Given the description of an element on the screen output the (x, y) to click on. 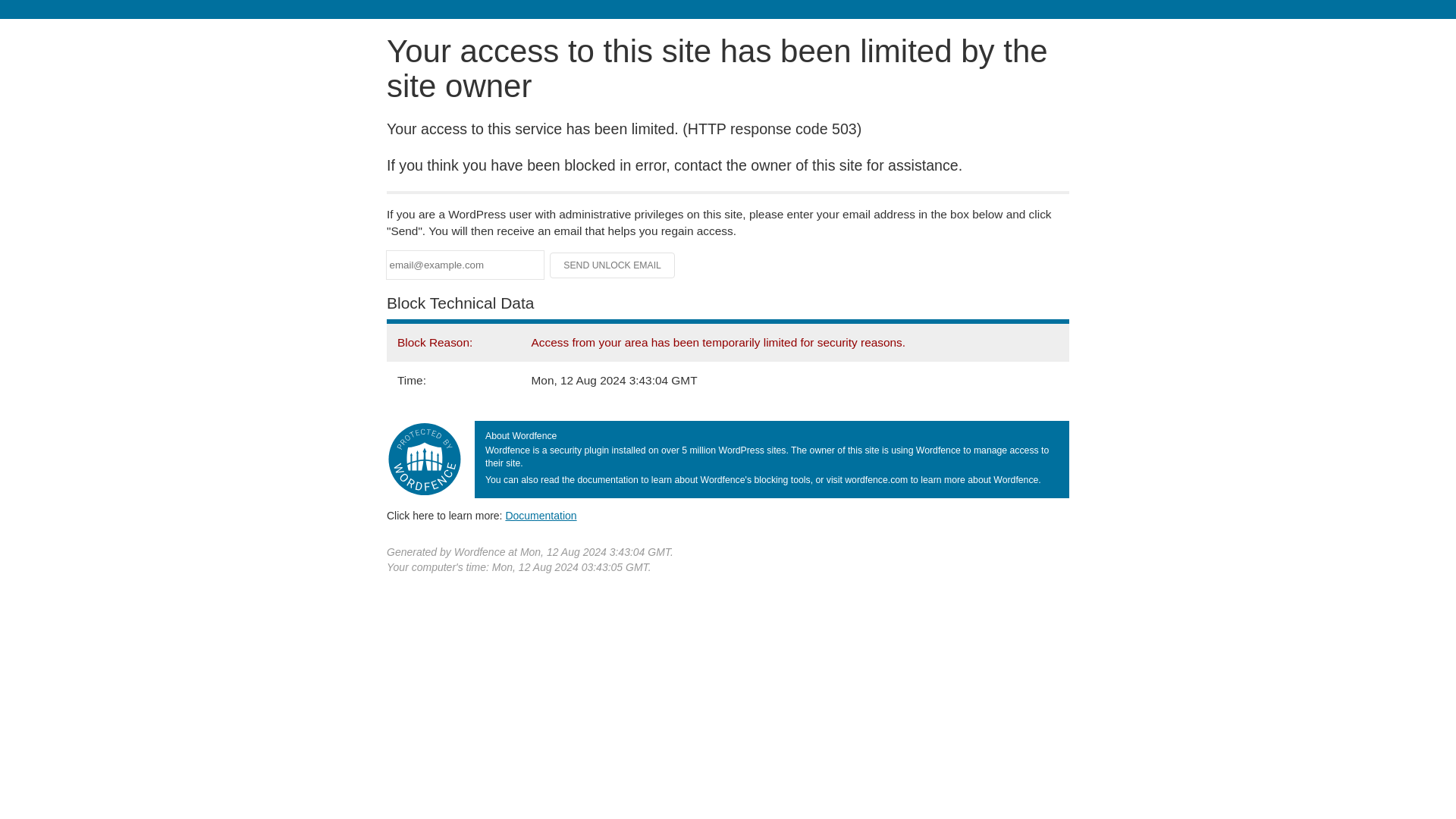
Send Unlock Email (612, 265)
Documentation (540, 515)
Send Unlock Email (612, 265)
